Given the description of an element on the screen output the (x, y) to click on. 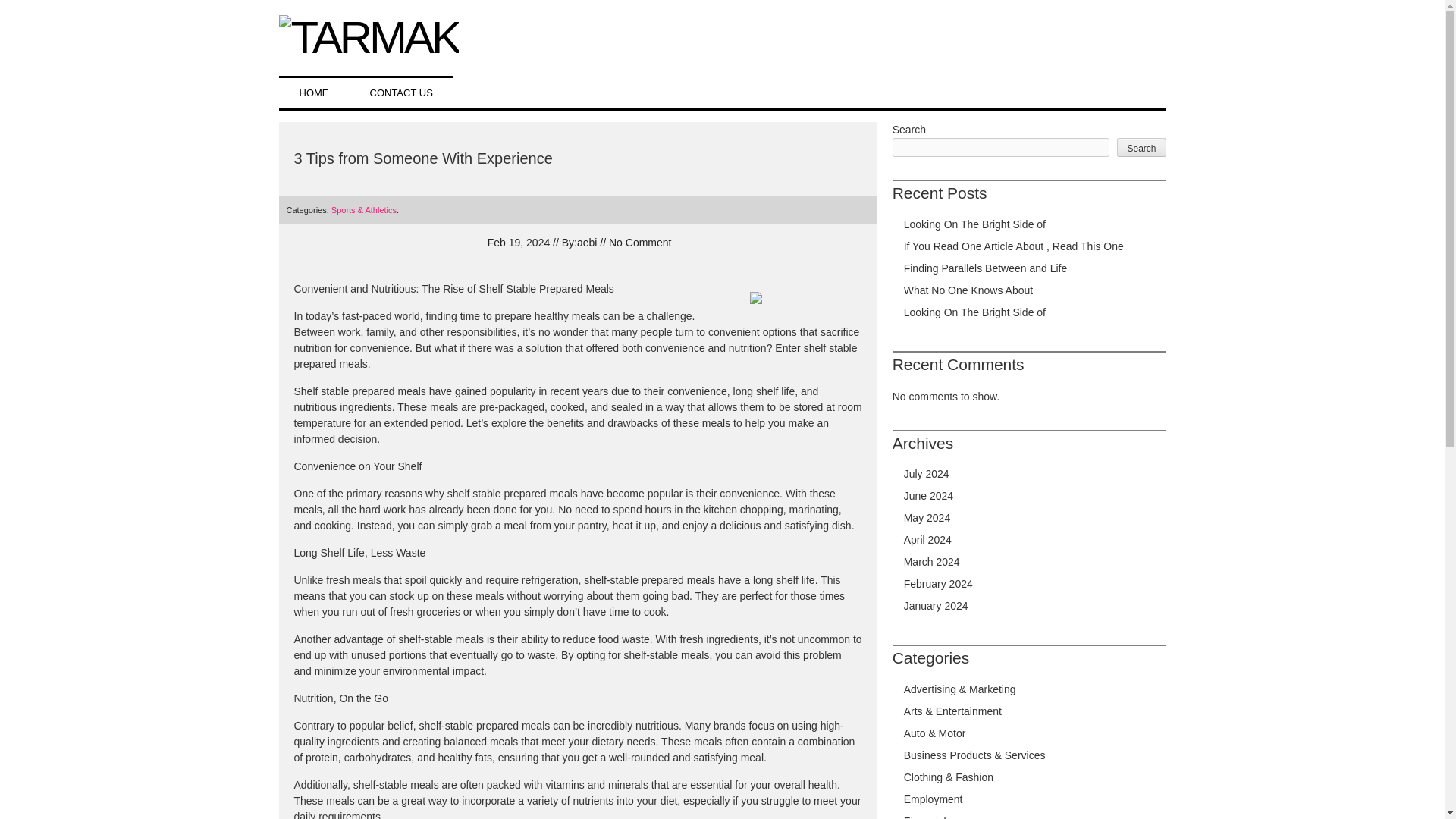
January 2024 (936, 605)
June 2024 (928, 495)
February 2024 (938, 583)
April 2024 (928, 539)
July 2024 (926, 473)
Looking On The Bright Side of (974, 224)
Employment (933, 799)
What No One Knows About (968, 290)
Finding Parallels Between and Life (985, 268)
Search (1141, 148)
Financial (925, 816)
CONTACT US (400, 92)
March 2024 (931, 562)
May 2024 (927, 517)
If You Read One Article About , Read This One (1014, 246)
